Given the description of an element on the screen output the (x, y) to click on. 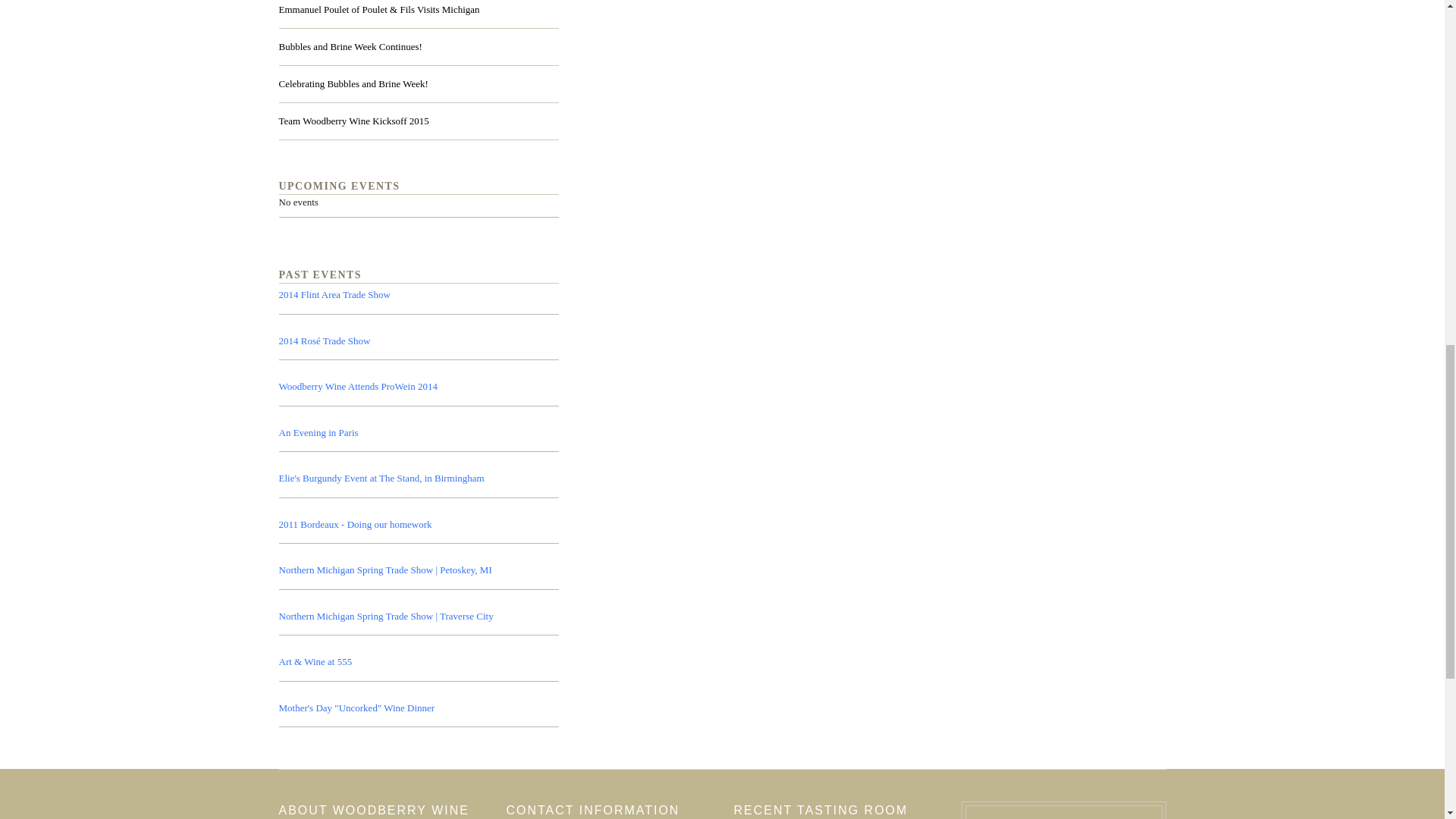
Team Woodberry Wine Kicksoff 2015 (354, 120)
2014 Flint Area Trade Show (334, 294)
Celebrating Bubbles and Brine Week! (353, 84)
Bubbles and Brine Week Continues! (350, 46)
